Given the description of an element on the screen output the (x, y) to click on. 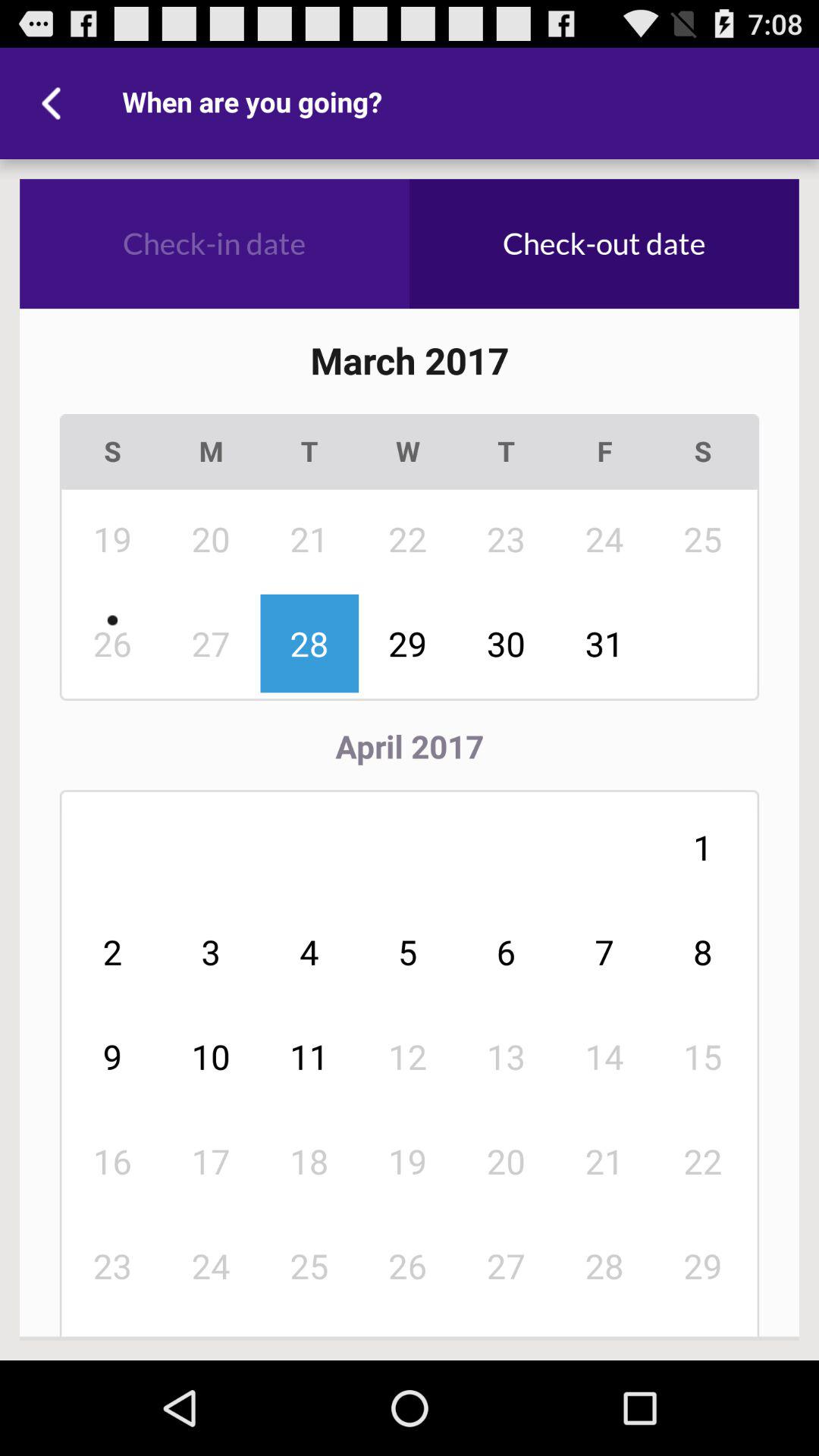
jump to the 10 icon (211, 1056)
